Given the description of an element on the screen output the (x, y) to click on. 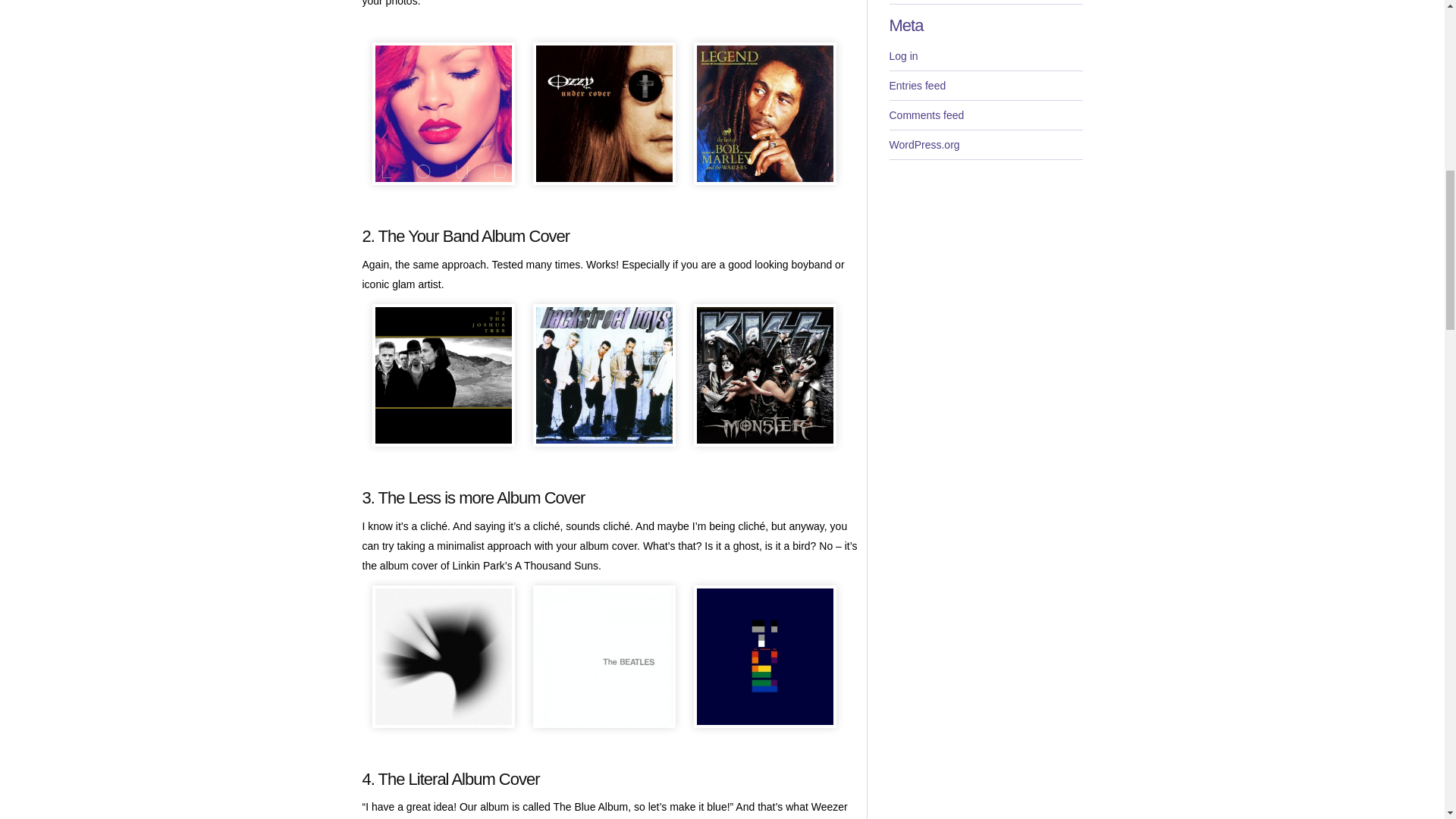
Entries feed (984, 85)
Ozzy (603, 113)
Linkin Park (442, 656)
Uncategorized (984, 2)
Comments feed (984, 115)
Rihanna (442, 113)
WordPress.org (984, 144)
Log in (984, 56)
Coldplay (764, 656)
Kiss (764, 374)
Bob Marley (764, 113)
U2 (442, 374)
Backstreet Boys (603, 374)
The Beatles (603, 656)
